Given the description of an element on the screen output the (x, y) to click on. 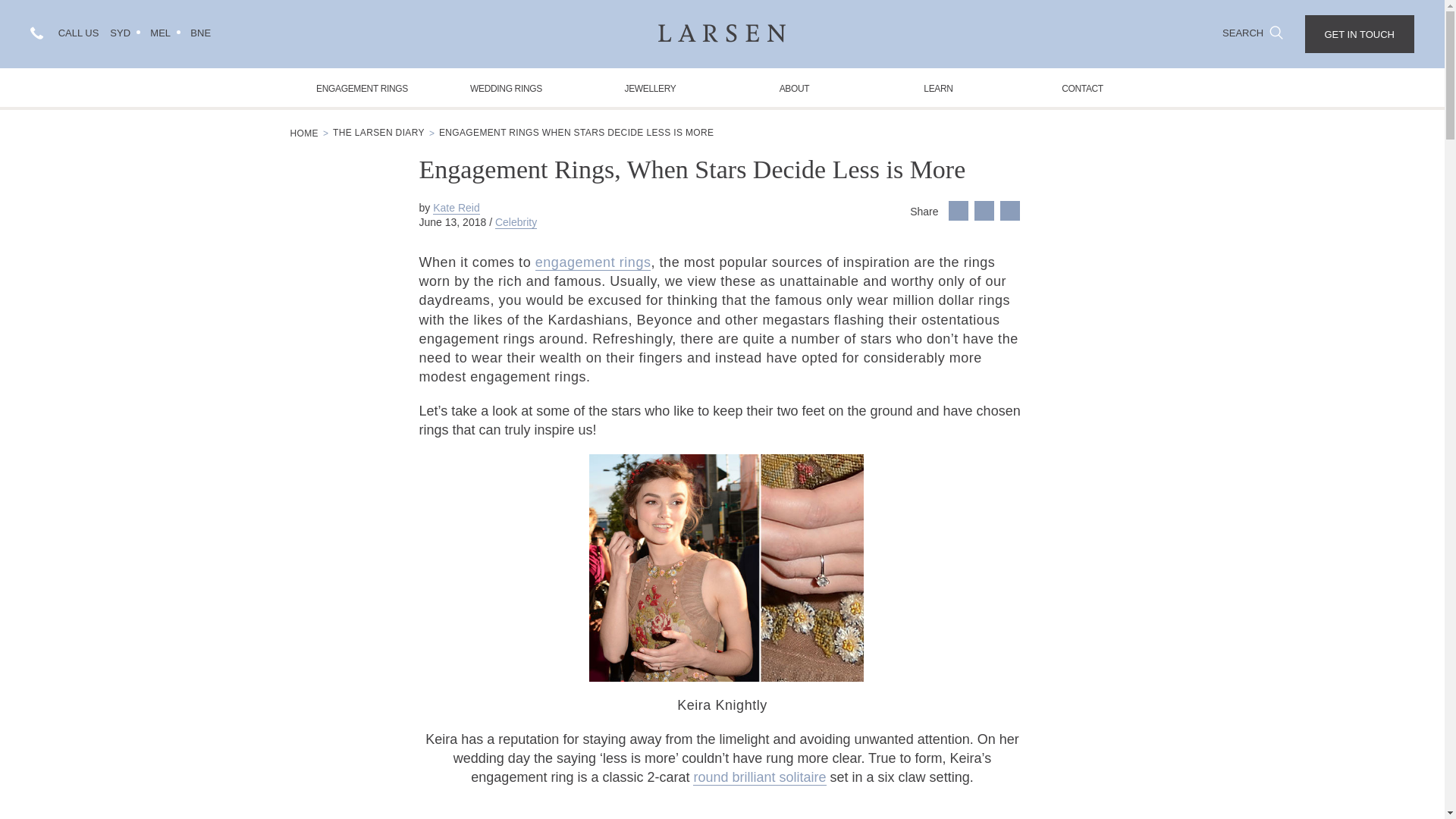
SEARCH (1252, 32)
ENGAGEMENT RINGS (361, 87)
GET IN TOUCH (1358, 34)
